Given the description of an element on the screen output the (x, y) to click on. 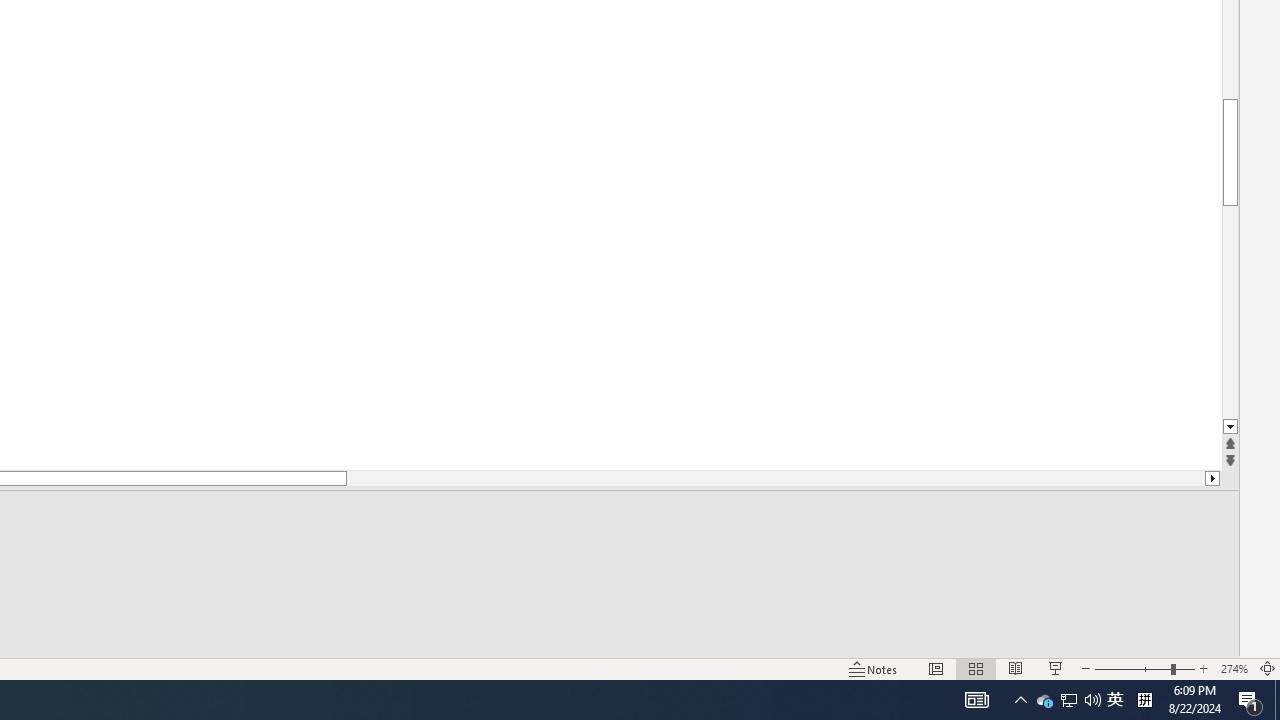
Zoom 274% (1234, 668)
Page down (1230, 312)
